Given the description of an element on the screen output the (x, y) to click on. 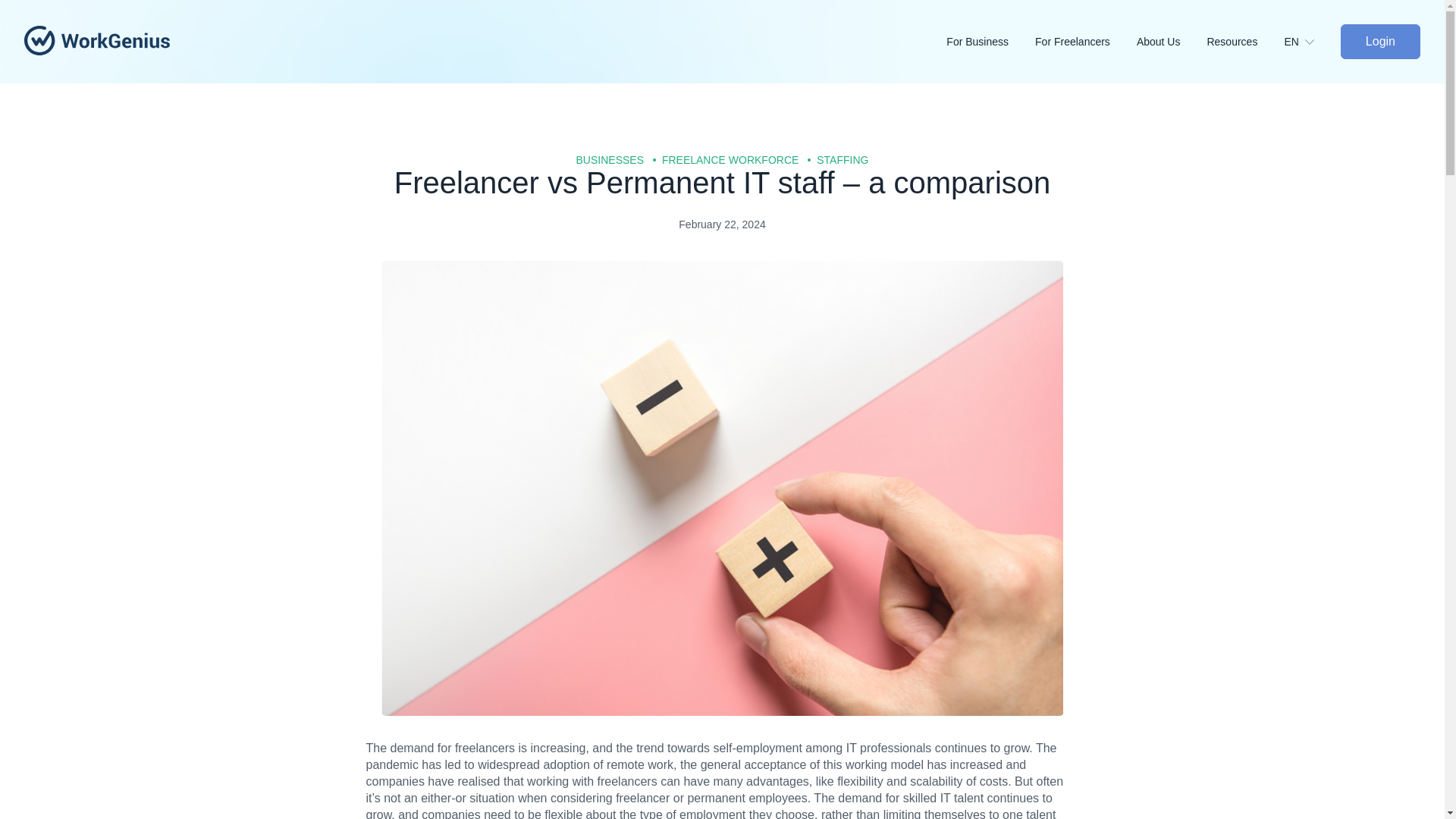
For Business (990, 41)
EN (1311, 41)
STAFFING (842, 159)
Login (1380, 41)
Resources (1245, 41)
About Us (1172, 41)
FREELANCE WORKFORCE (729, 159)
For Freelancers (1086, 41)
BUSINESSES (609, 159)
